Given the description of an element on the screen output the (x, y) to click on. 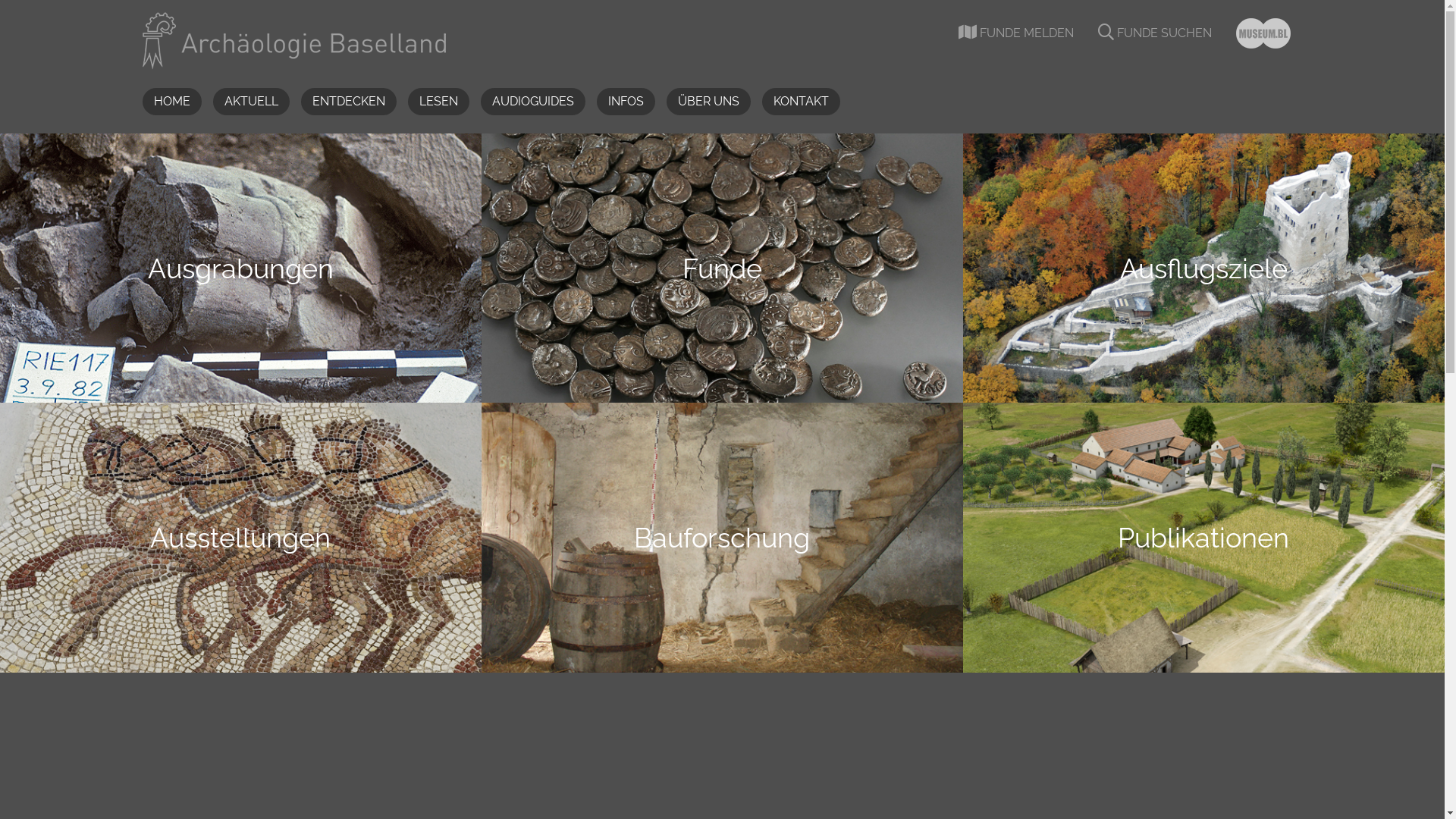
LESEN Element type: text (438, 101)
HOME Element type: text (171, 101)
ENTDECKEN Element type: text (347, 101)
Funde Element type: text (722, 267)
Ausstellungen Element type: text (240, 536)
FUNDE SUCHEN Element type: text (1154, 33)
Publikationen Element type: text (1203, 536)
FUNDE MELDEN Element type: text (1015, 33)
AKTUELL Element type: text (250, 101)
Ausgrabungen Element type: text (240, 267)
INFOS Element type: text (625, 101)
Bauforschung Element type: text (722, 536)
Ausflugsziele Element type: text (1203, 267)
KONTAKT Element type: text (800, 101)
AUDIOGUIDES Element type: text (532, 101)
